Given the description of an element on the screen output the (x, y) to click on. 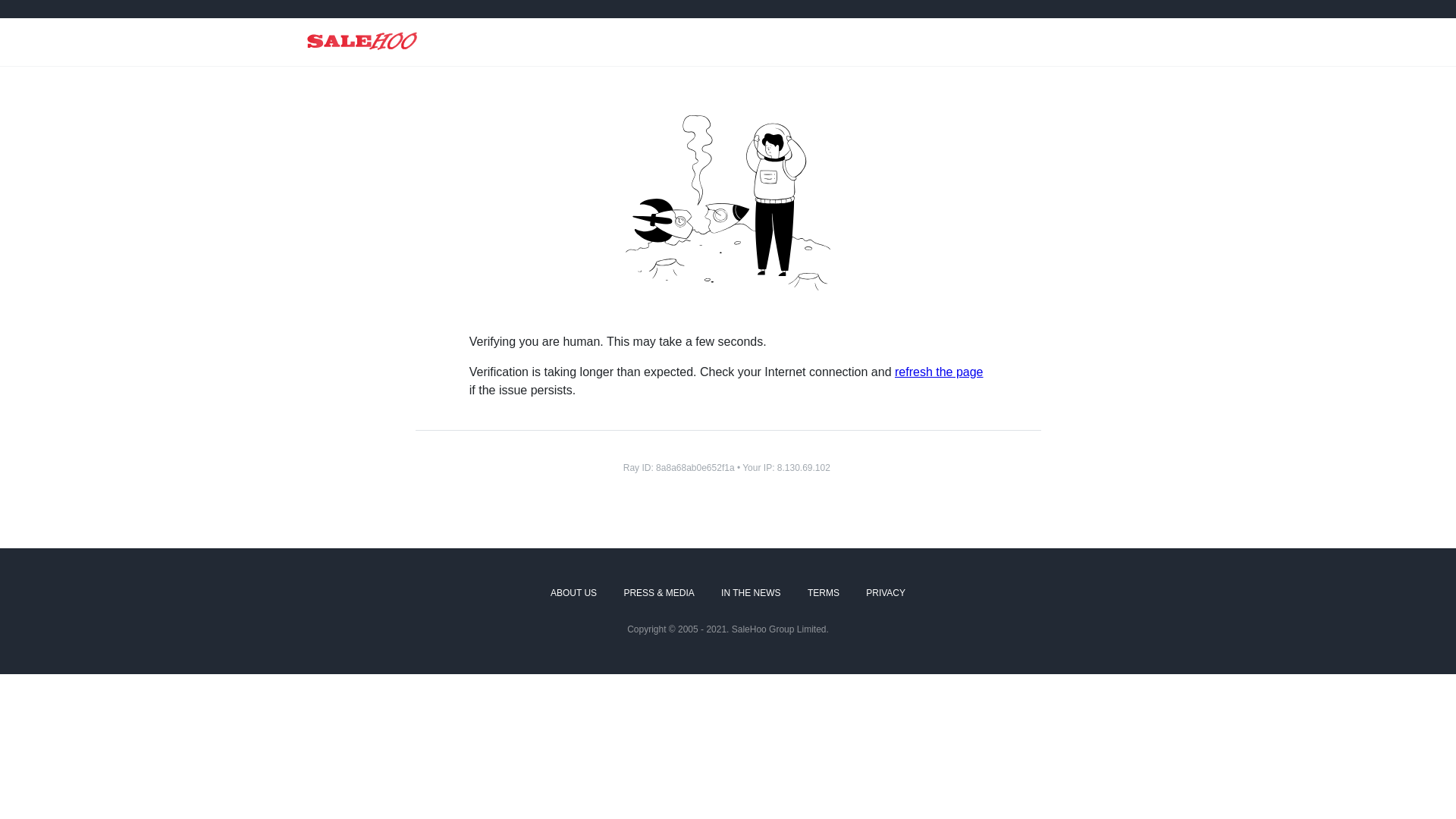
PRIVACY (885, 593)
refresh the page (939, 371)
TERMS (824, 593)
IN THE NEWS (750, 593)
ABOUT US (573, 593)
